Given the description of an element on the screen output the (x, y) to click on. 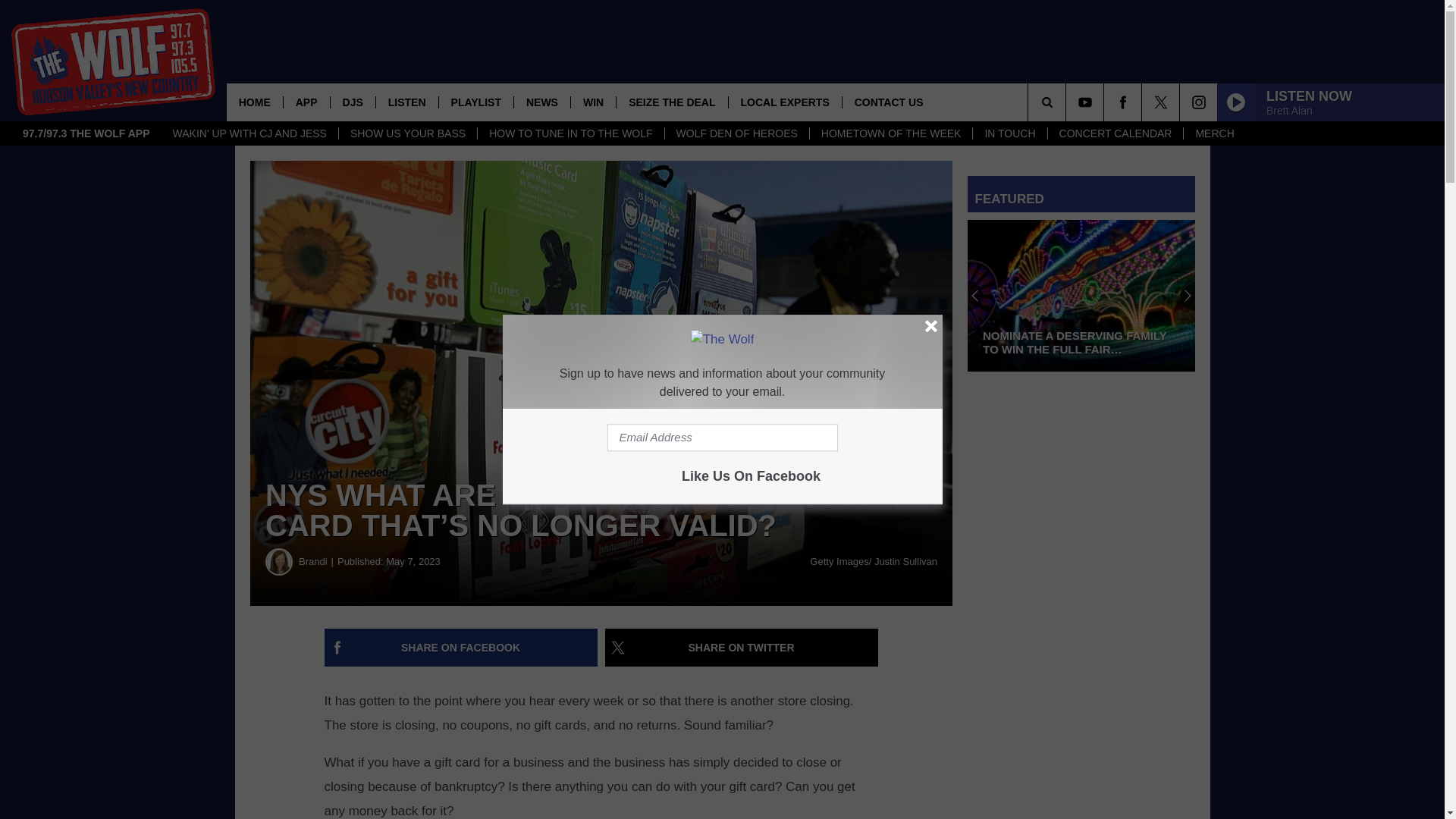
CONCERT CALENDAR (1114, 133)
SEARCH (1068, 102)
IN TOUCH (1009, 133)
Share on Twitter (741, 647)
LOCAL EXPERTS (784, 102)
SEARCH (1068, 102)
PLAYLIST (475, 102)
Share on Facebook (460, 647)
HOW TO TUNE IN TO THE WOLF (570, 133)
LISTEN (406, 102)
Email Address (722, 437)
SEIZE THE DEAL (670, 102)
DJS (352, 102)
APP (306, 102)
NEWS (541, 102)
